Given the description of an element on the screen output the (x, y) to click on. 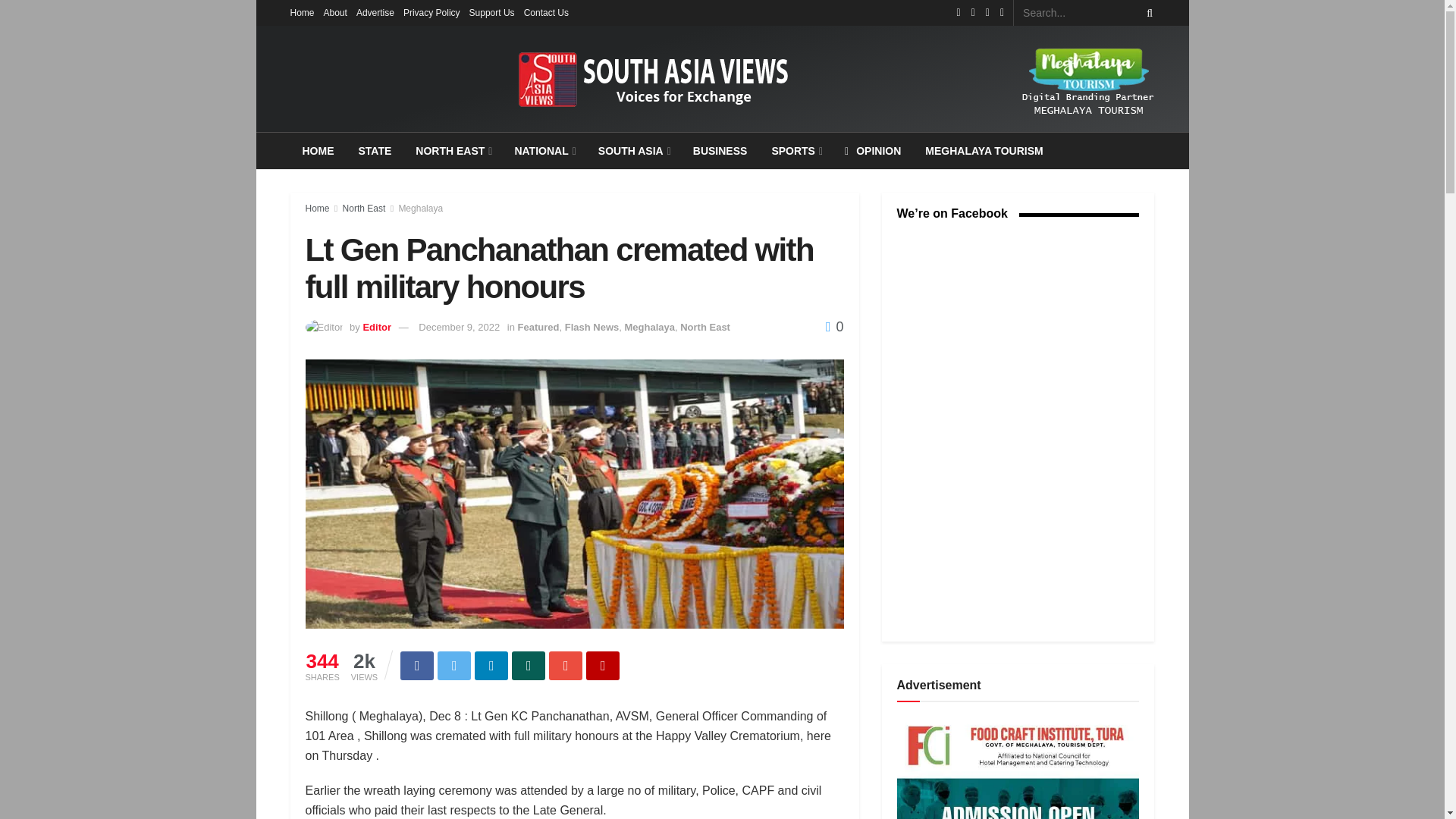
NORTH EAST (452, 150)
About (335, 12)
Privacy Policy (431, 12)
Advertise (375, 12)
HOME (317, 150)
Support Us (491, 12)
STATE (374, 150)
Contact Us (546, 12)
Home (301, 12)
Advertisement (1017, 768)
